Given the description of an element on the screen output the (x, y) to click on. 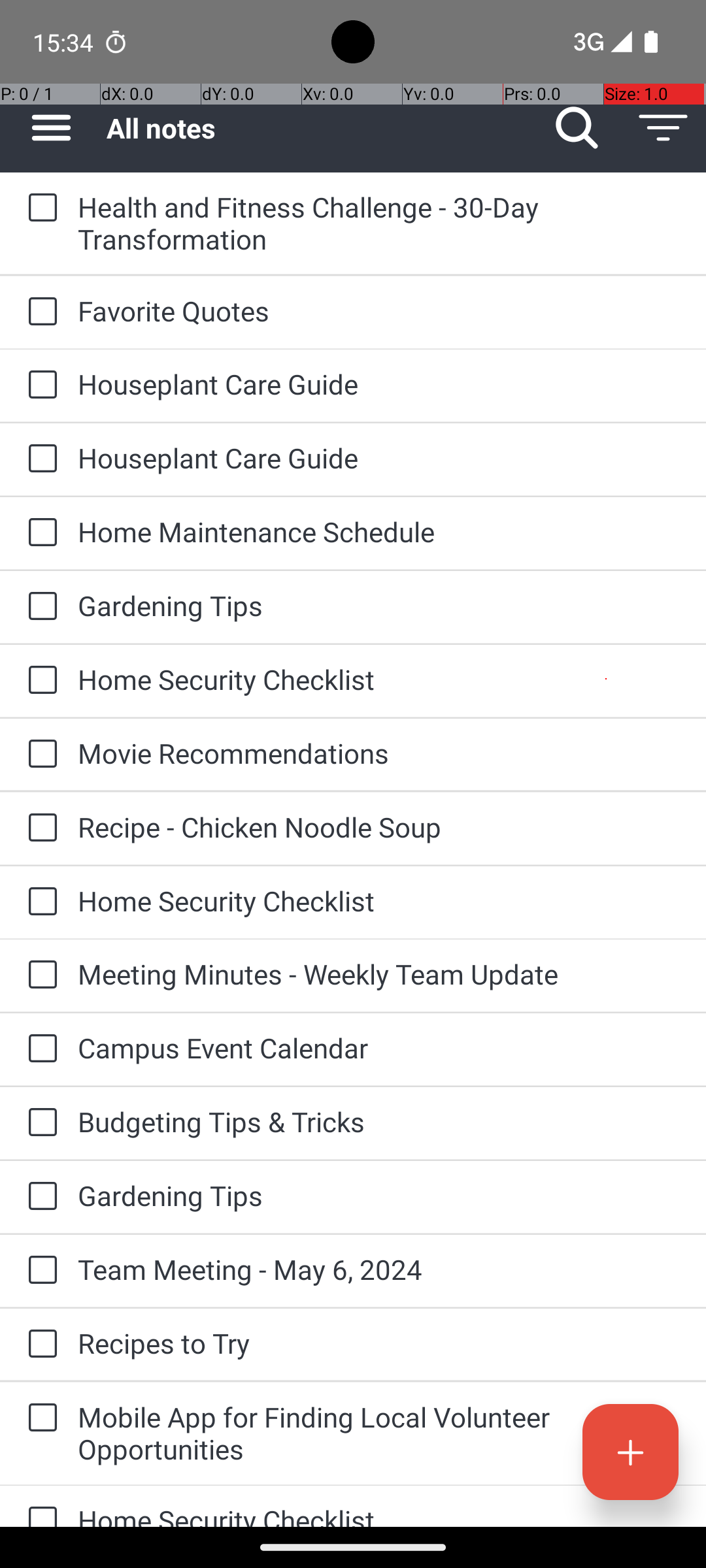
to-do: Health and Fitness Challenge - 30-Day Transformation Element type: android.widget.CheckBox (38, 208)
Health and Fitness Challenge - 30-Day Transformation Element type: android.widget.TextView (378, 222)
to-do: Favorite Quotes Element type: android.widget.CheckBox (38, 312)
Favorite Quotes Element type: android.widget.TextView (378, 310)
to-do: Houseplant Care Guide Element type: android.widget.CheckBox (38, 385)
Houseplant Care Guide Element type: android.widget.TextView (378, 383)
to-do: Gardening Tips Element type: android.widget.CheckBox (38, 606)
Gardening Tips Element type: android.widget.TextView (378, 604)
to-do: Home Security Checklist Element type: android.widget.CheckBox (38, 680)
Home Security Checklist Element type: android.widget.TextView (378, 678)
to-do: Movie Recommendations Element type: android.widget.CheckBox (38, 754)
Movie Recommendations Element type: android.widget.TextView (378, 752)
to-do: Recipe - Chicken Noodle Soup Element type: android.widget.CheckBox (38, 828)
Recipe - Chicken Noodle Soup Element type: android.widget.TextView (378, 826)
to-do: Campus Event Calendar Element type: android.widget.CheckBox (38, 1049)
Campus Event Calendar Element type: android.widget.TextView (378, 1047)
to-do: Team Meeting - May 6, 2024 Element type: android.widget.CheckBox (38, 1270)
Team Meeting - May 6, 2024 Element type: android.widget.TextView (378, 1268)
to-do: Recipes to Try Element type: android.widget.CheckBox (38, 1344)
Recipes to Try Element type: android.widget.TextView (378, 1342)
to-do: Mobile App for Finding Local Volunteer Opportunities Element type: android.widget.CheckBox (38, 1418)
